Given the description of an element on the screen output the (x, y) to click on. 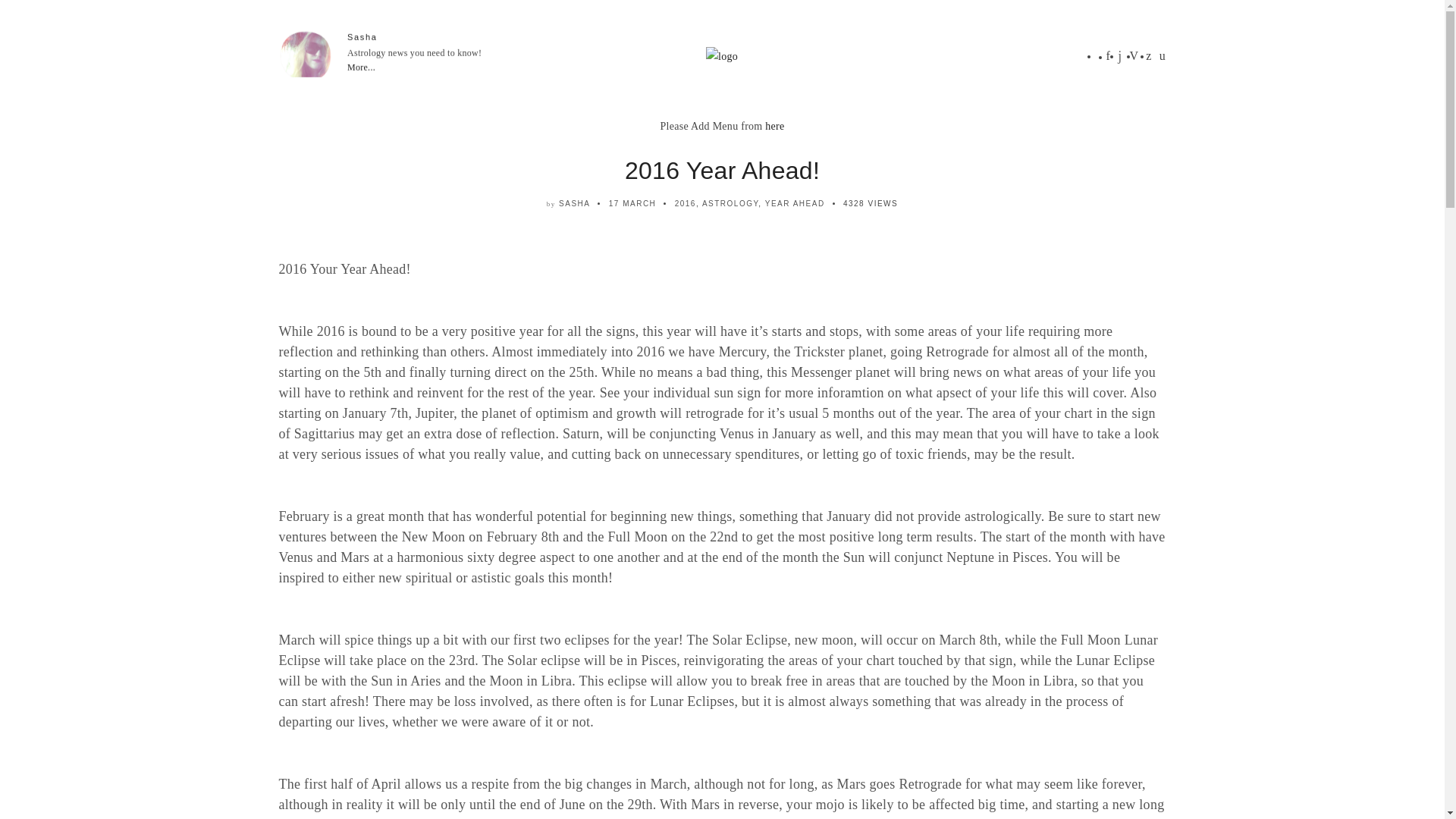
March 17, 2016 5:06 (632, 203)
2016 (685, 203)
Posts by Sasha (574, 203)
here (774, 125)
More... (361, 67)
YEAR AHEAD (795, 203)
ASTROLOGY (729, 203)
17 MARCH (632, 203)
2016 Year Ahead! (721, 170)
Sasha (362, 36)
